Given the description of an element on the screen output the (x, y) to click on. 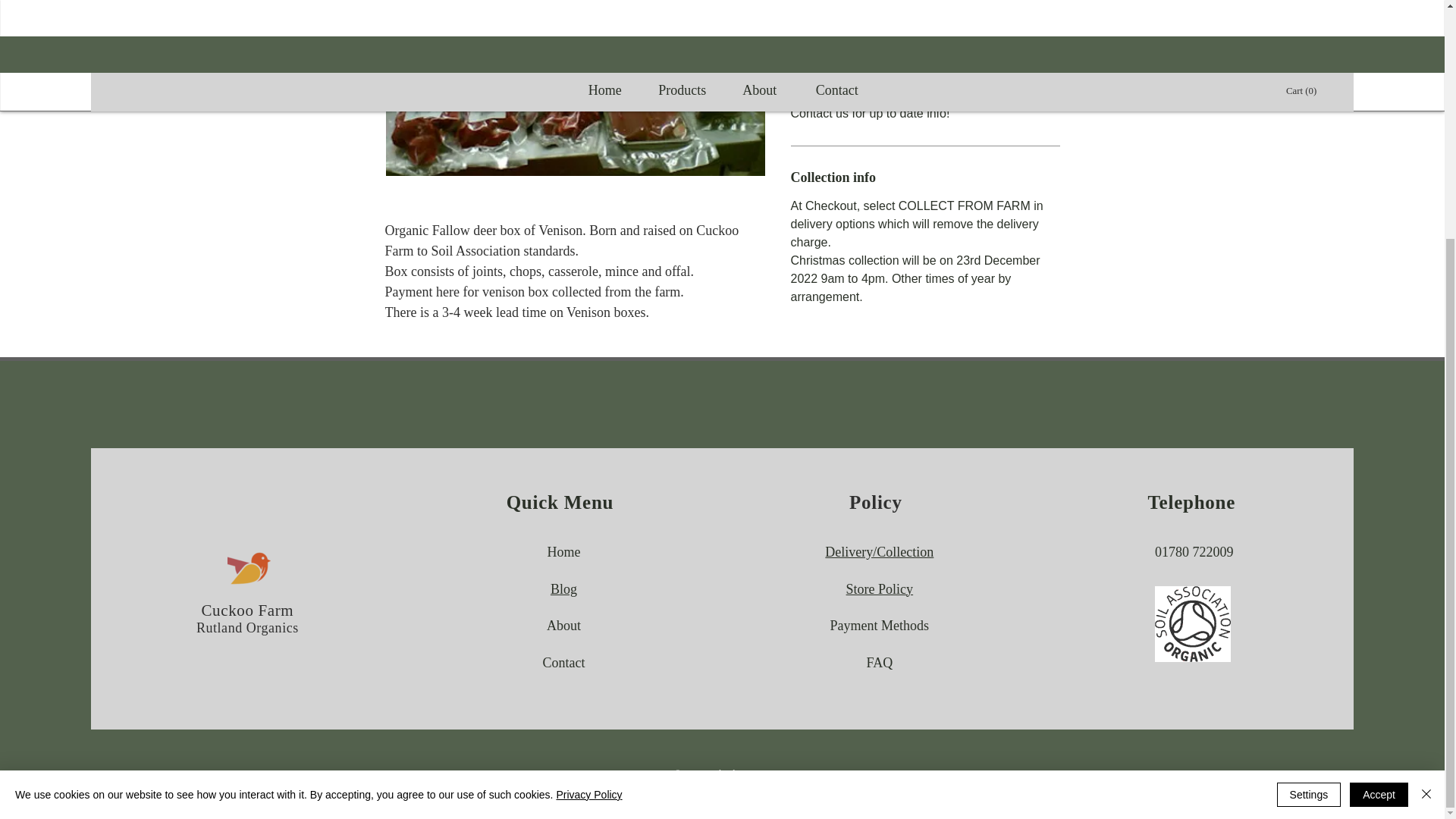
About (563, 625)
cuckoo.png (248, 567)
Store Policy (879, 589)
Privacy Policy (588, 466)
Contact (563, 662)
Accept (1378, 466)
Out of Stock (924, 3)
FAQ (879, 662)
Home (563, 551)
Rutland Organics (247, 627)
Blog (563, 589)
Payment Methods (879, 625)
Cuckoo Farm (247, 610)
Settings (1308, 466)
